Given the description of an element on the screen output the (x, y) to click on. 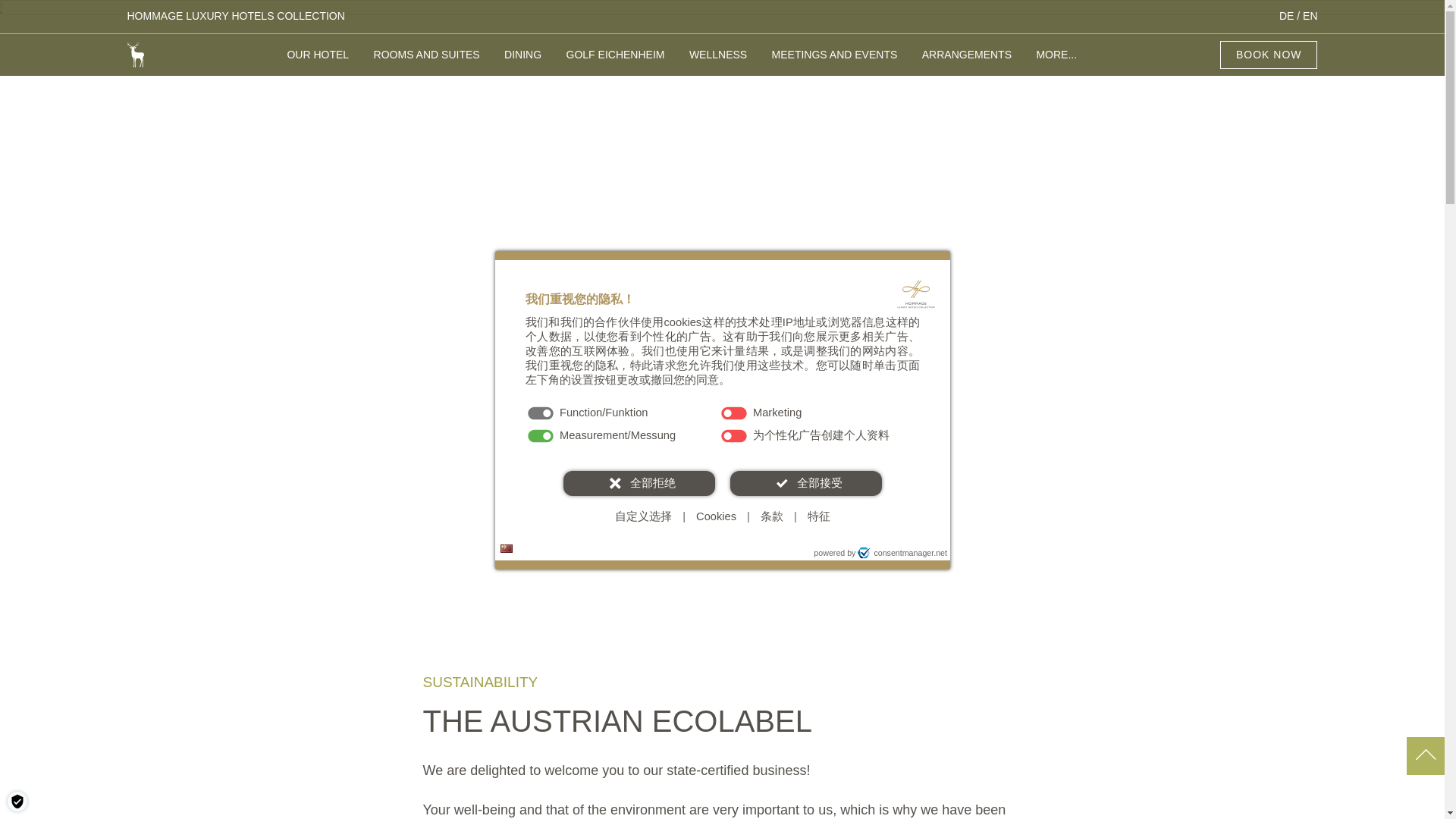
EN (1310, 15)
ROOMS AND SUITES (427, 62)
ARRANGEMENTS (966, 62)
DE (1286, 15)
WELLNESS (717, 62)
DINING (522, 62)
Language: zh (506, 548)
consentmanager.net (902, 552)
OUR HOTEL (317, 62)
GOLF EICHENHEIM (615, 62)
